Given the description of an element on the screen output the (x, y) to click on. 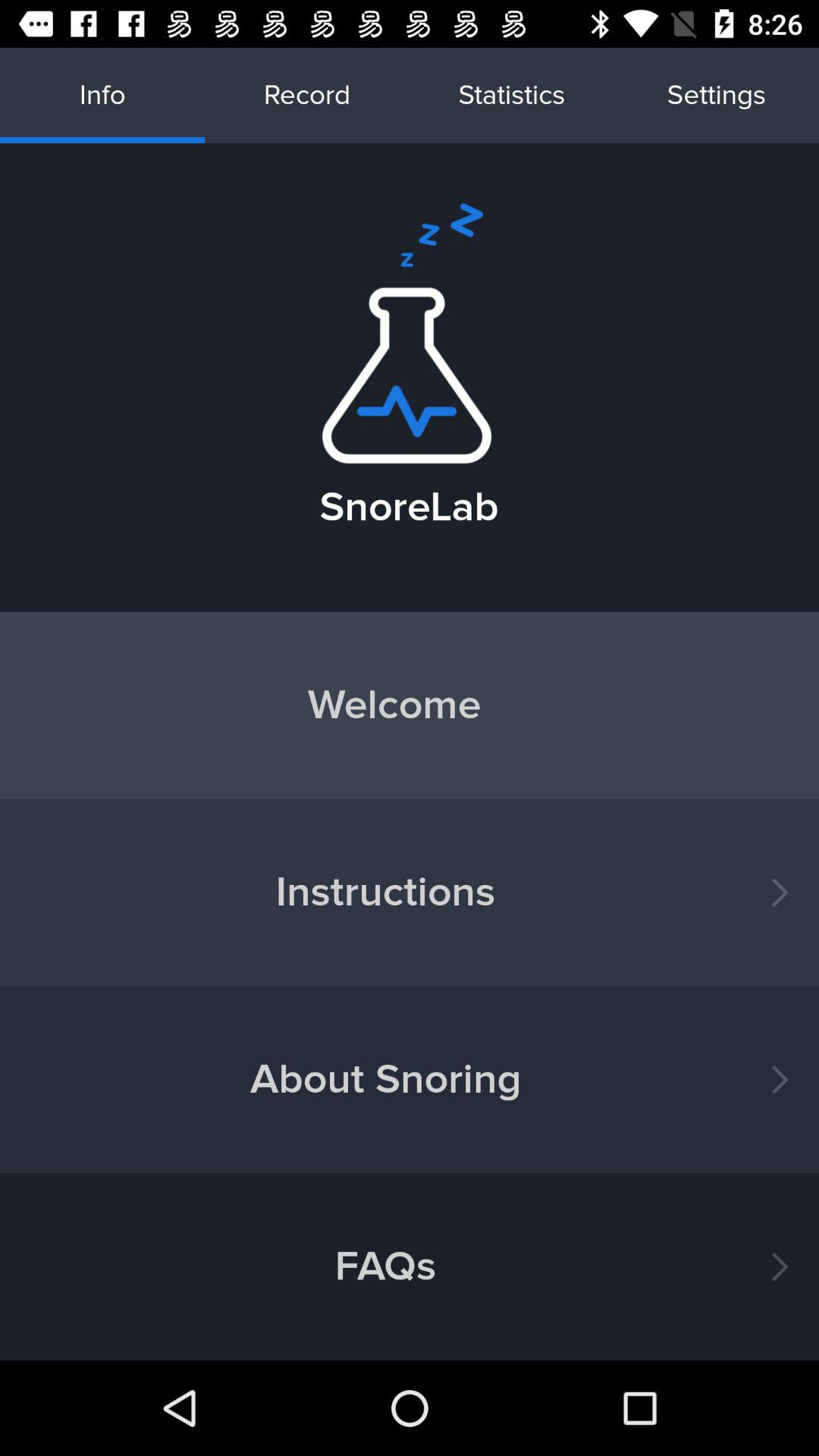
click the button below welcome (409, 892)
